Given the description of an element on the screen output the (x, y) to click on. 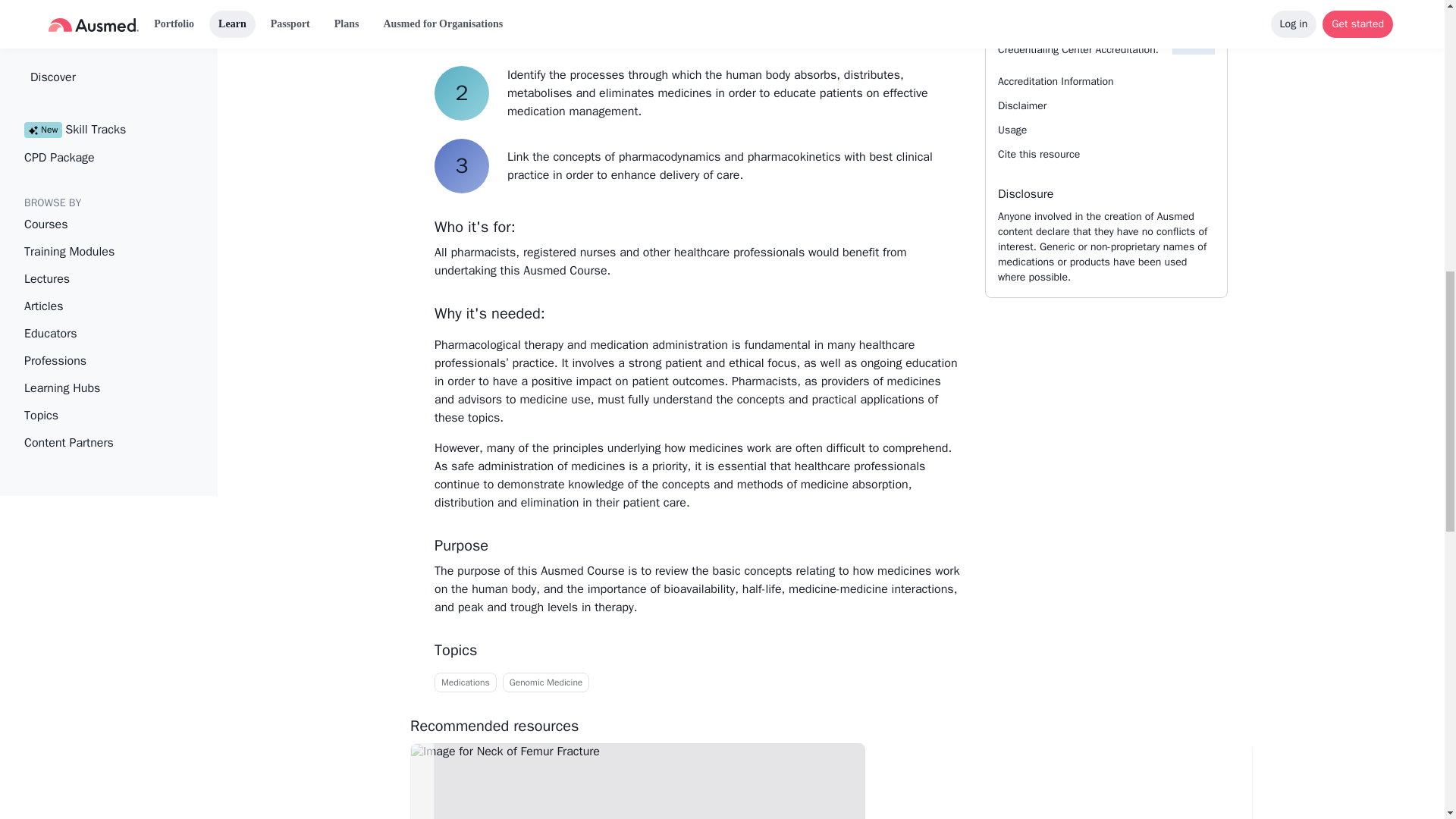
Genomic Medicine (545, 681)
Medications (464, 681)
Neck of Femur Fracture (637, 780)
